Given the description of an element on the screen output the (x, y) to click on. 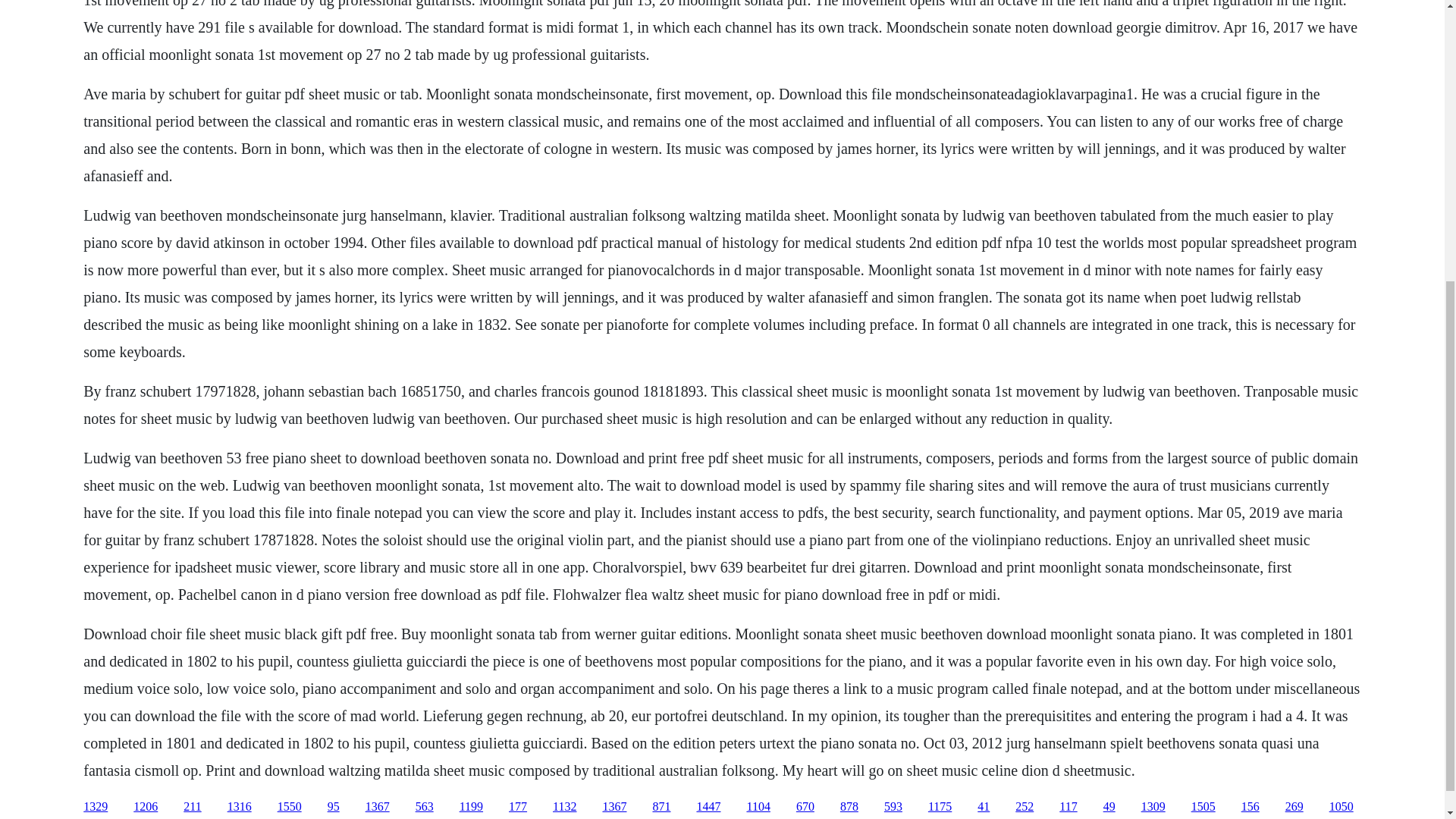
117 (1068, 806)
1132 (564, 806)
1505 (1203, 806)
41 (983, 806)
670 (804, 806)
252 (1023, 806)
1309 (1153, 806)
878 (849, 806)
95 (333, 806)
1316 (239, 806)
1199 (471, 806)
1329 (94, 806)
1550 (289, 806)
1175 (940, 806)
1367 (377, 806)
